Given the description of an element on the screen output the (x, y) to click on. 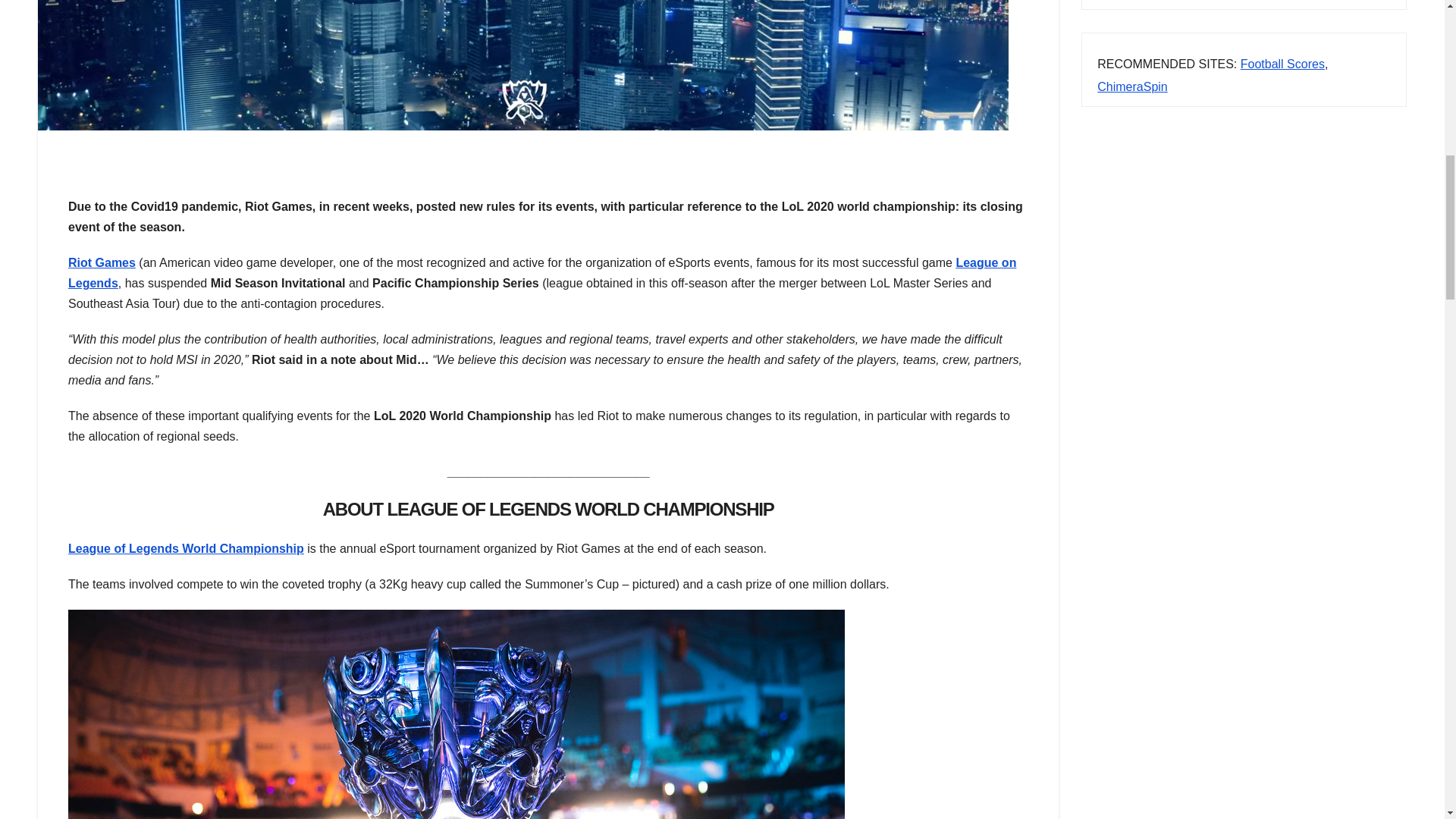
Riot Games (101, 262)
League on Legends (542, 272)
League of Legends World Championship (186, 548)
